Given the description of an element on the screen output the (x, y) to click on. 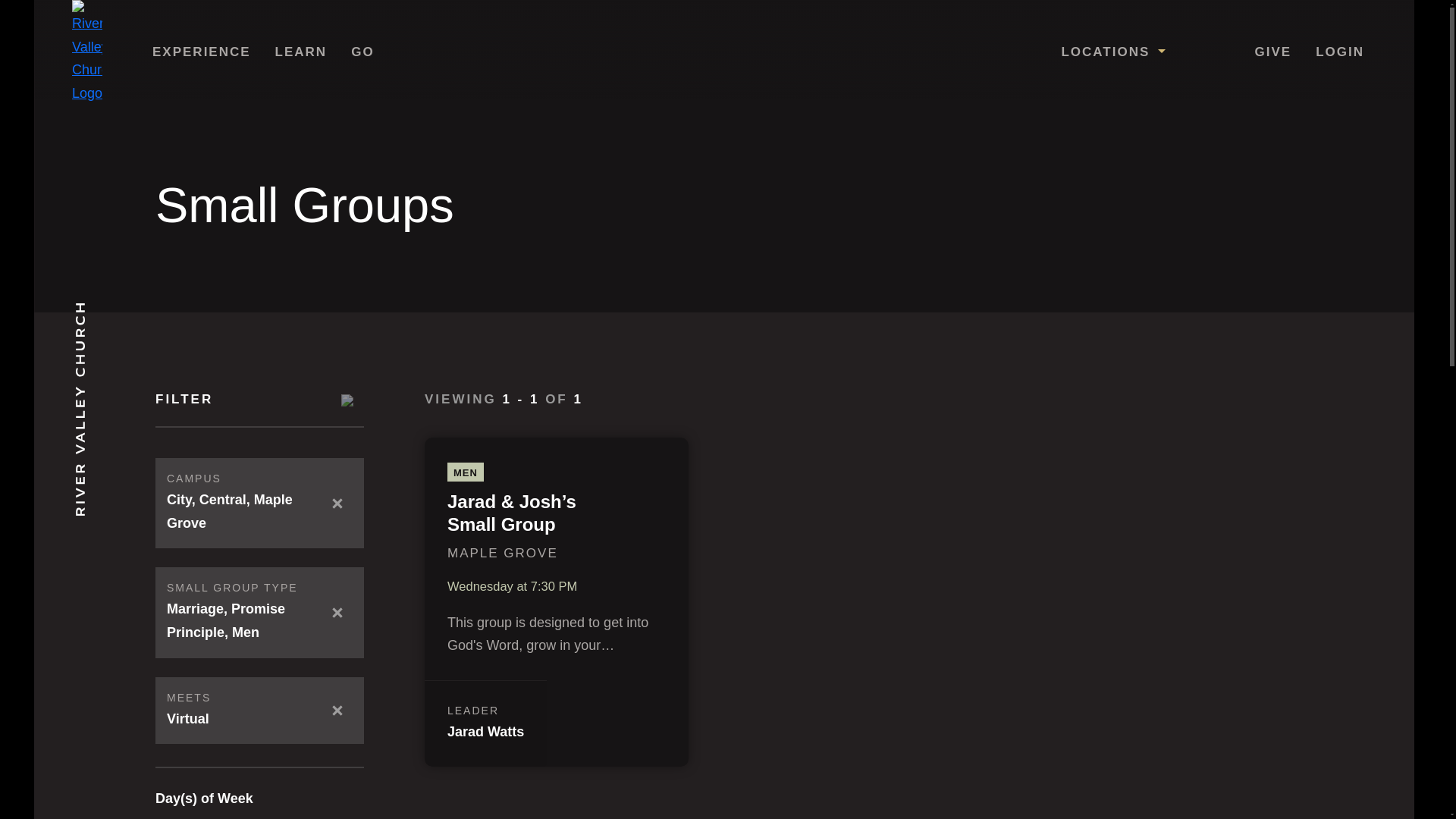
Log into your account (1340, 52)
